Given the description of an element on the screen output the (x, y) to click on. 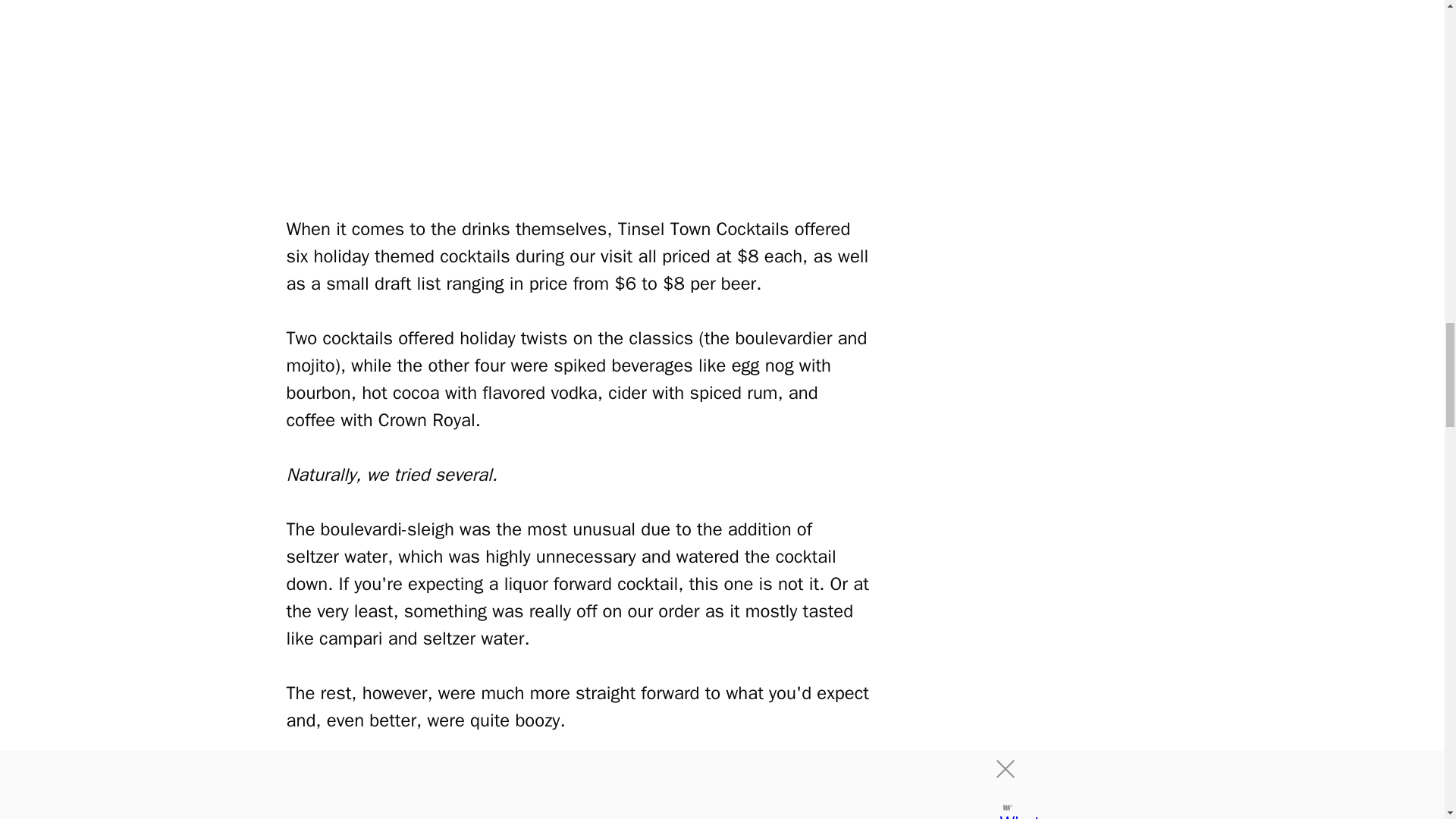
Spiked Drinks at Tinsel Town Cocktails (577, 790)
Holiday Drinks in Pittsburgh (577, 94)
